Given the description of an element on the screen output the (x, y) to click on. 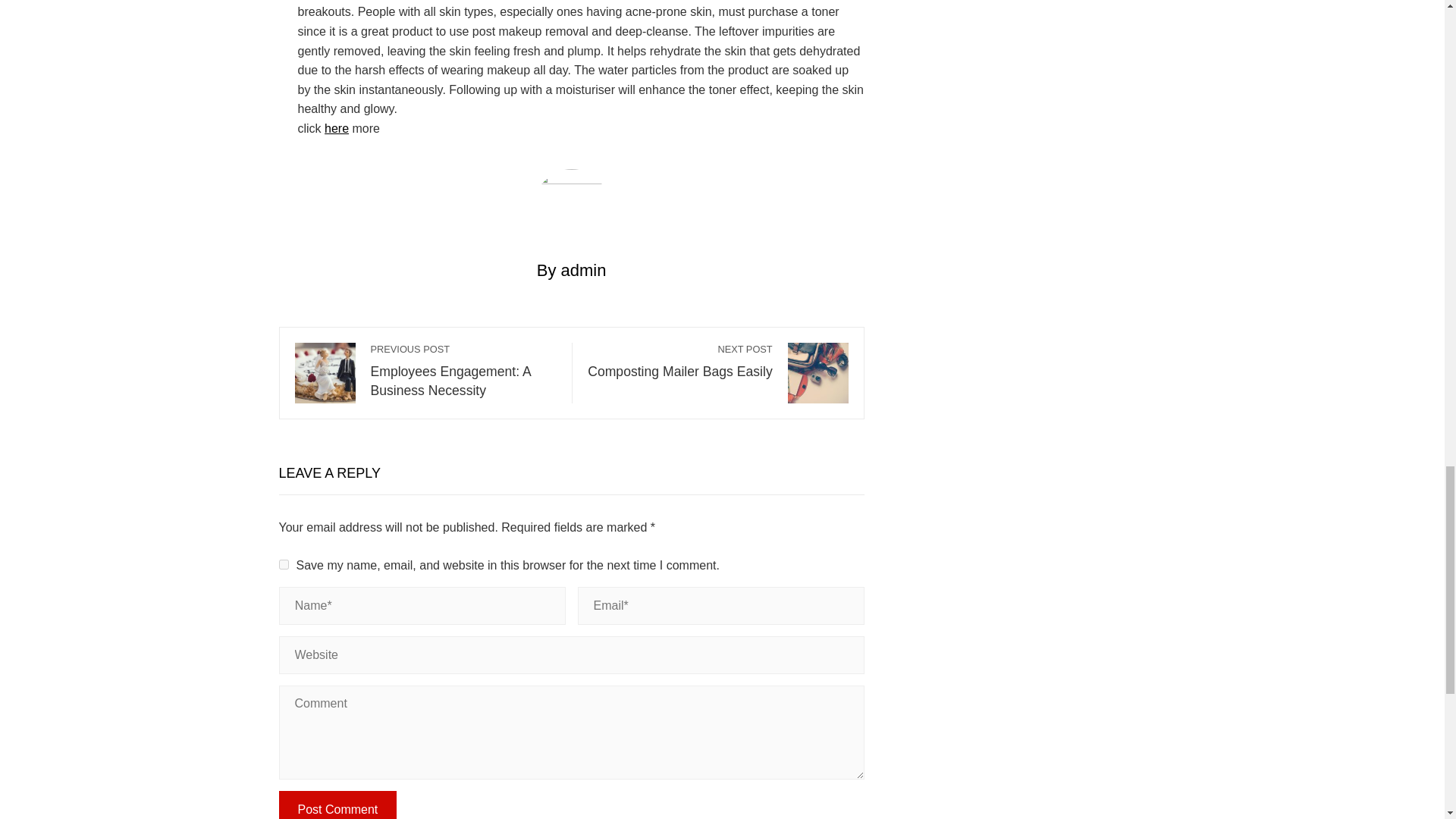
Post Comment (338, 805)
yes (283, 564)
